Given the description of an element on the screen output the (x, y) to click on. 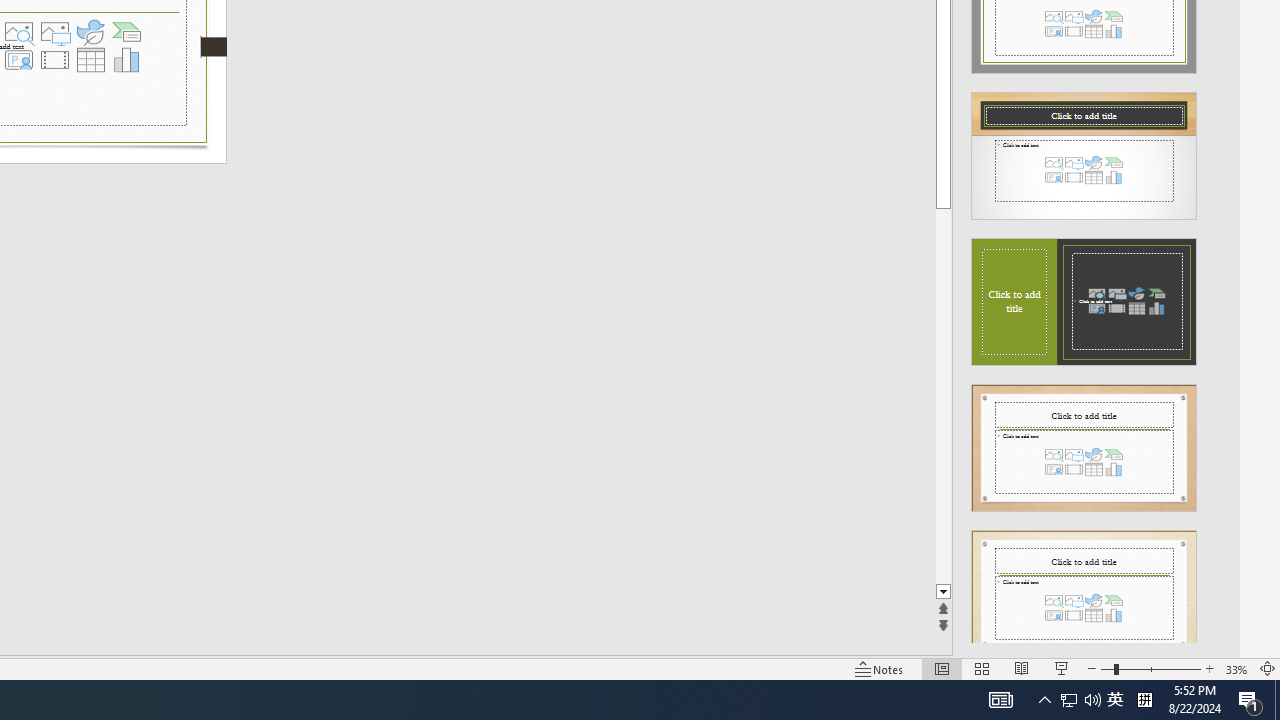
Insert Chart (127, 60)
Stock Images (18, 32)
Insert Cameo (18, 60)
Pictures (54, 32)
